Given the description of an element on the screen output the (x, y) to click on. 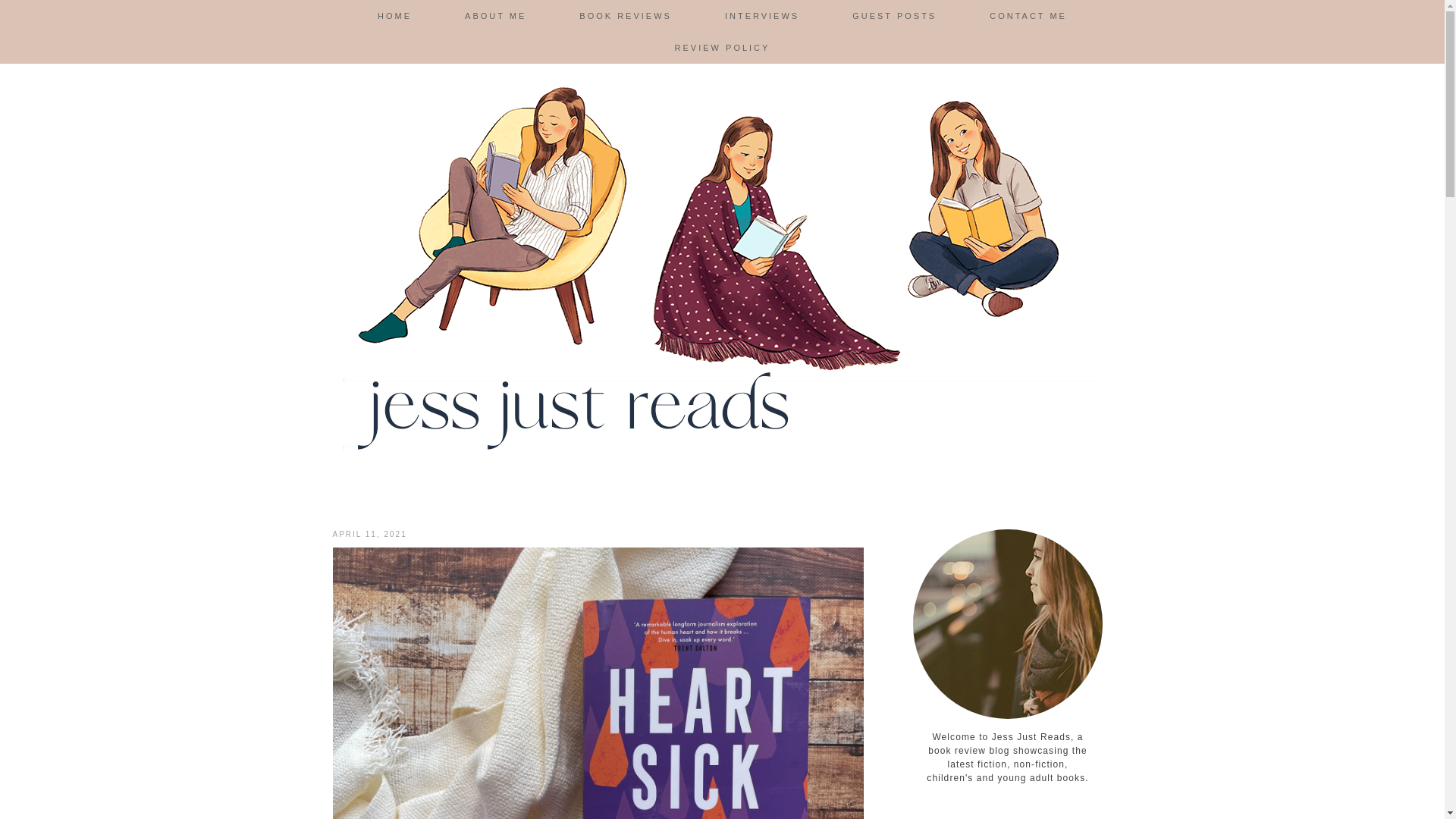
INTERVIEWS (761, 15)
HOME (394, 15)
CONTACT ME (1027, 15)
ABOUT ME (495, 15)
GUEST POSTS (893, 15)
BOOK REVIEWS (625, 15)
REVIEW POLICY (721, 47)
